Given the description of an element on the screen output the (x, y) to click on. 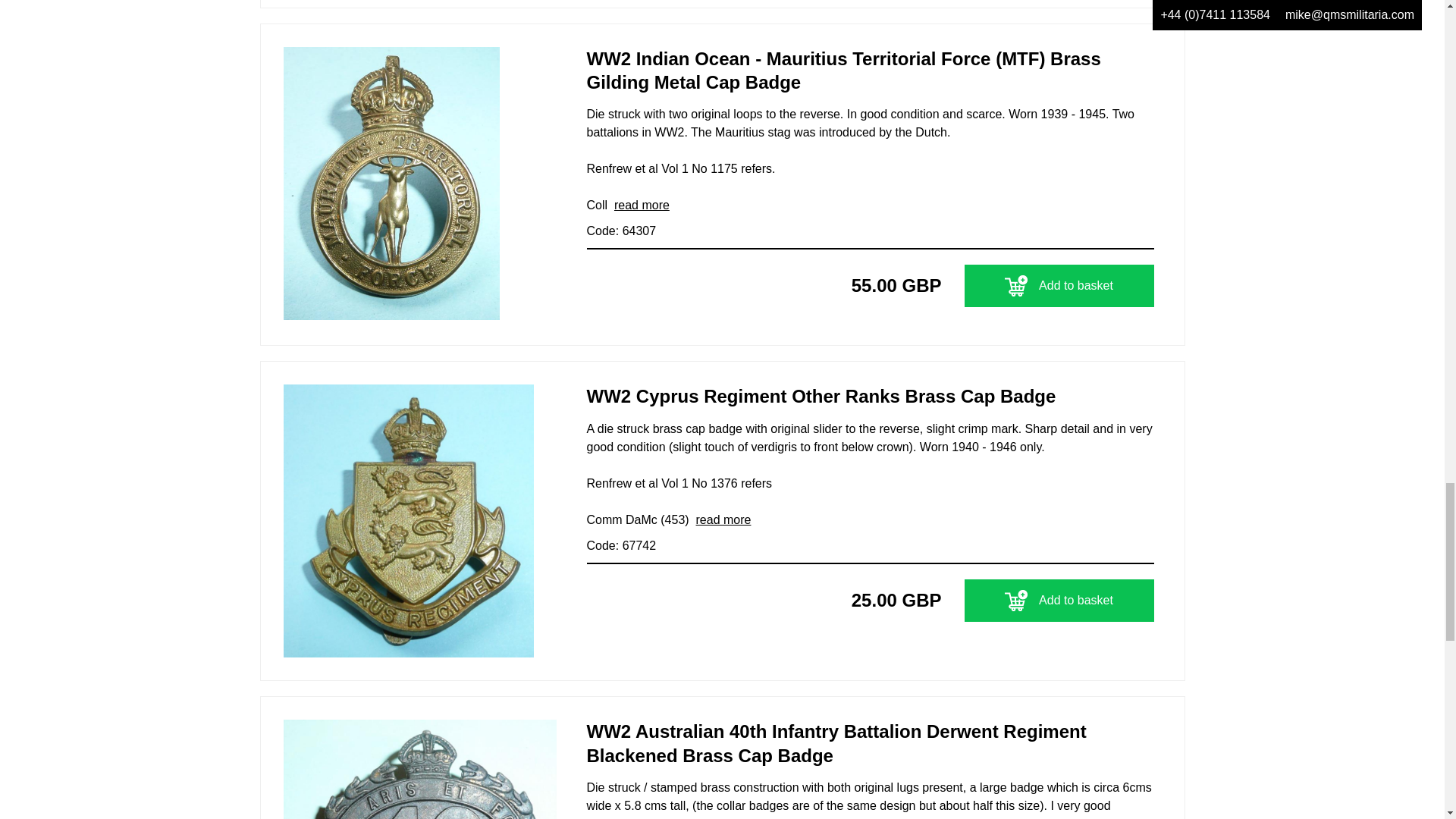
WW2 Cyprus Regiment Other Ranks Brass Cap Badge (870, 401)
add to basket (1015, 285)
add to basket (1015, 599)
